Given the description of an element on the screen output the (x, y) to click on. 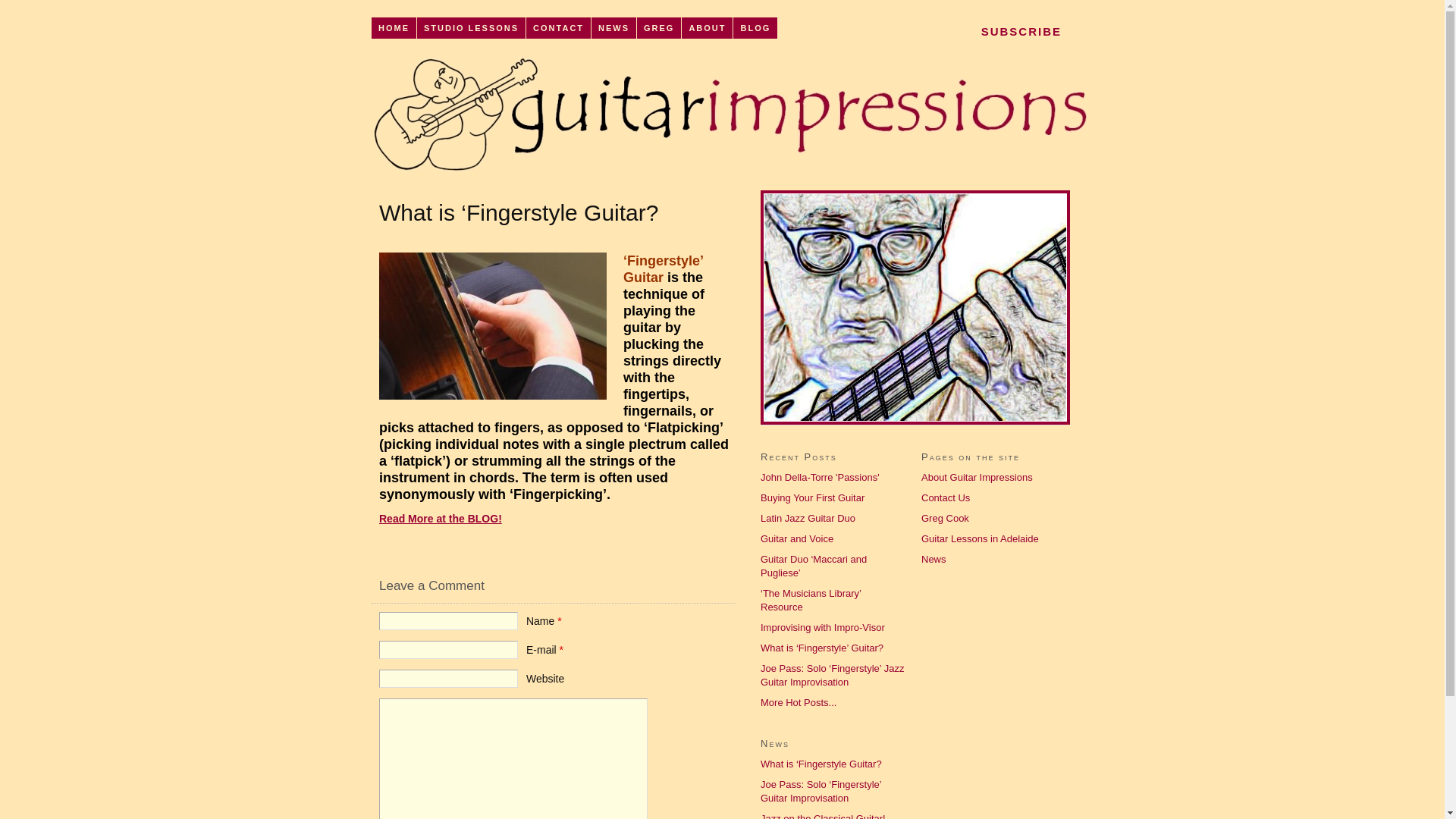
Guitar Lessons in Adelaide Element type: text (979, 538)
Guitar and Voice Element type: text (796, 538)
STUDIO LESSONS Element type: text (471, 27)
Buying Your First Guitar Element type: text (812, 497)
Contact Us Element type: text (945, 497)
News Element type: text (933, 558)
Improvising with Impro-Visor Element type: text (822, 627)
Greg Cook Element type: text (945, 518)
CONTACT Element type: text (558, 27)
BLOG Element type: text (755, 27)
HOME Element type: text (394, 27)
SUBSCRIBE Element type: text (1022, 30)
GREG Element type: text (659, 27)
About Guitar Impressions Element type: text (976, 477)
ABOUT Element type: text (707, 27)
John Della-Torre 'Passions' Element type: text (819, 477)
Latin Jazz Guitar Duo Element type: text (807, 518)
NEWS Element type: text (614, 27)
More Hot Posts... Element type: text (798, 702)
Read More at the BLOG! Element type: text (440, 518)
Fingerstyle Guitar Element type: hover (492, 325)
